Given the description of an element on the screen output the (x, y) to click on. 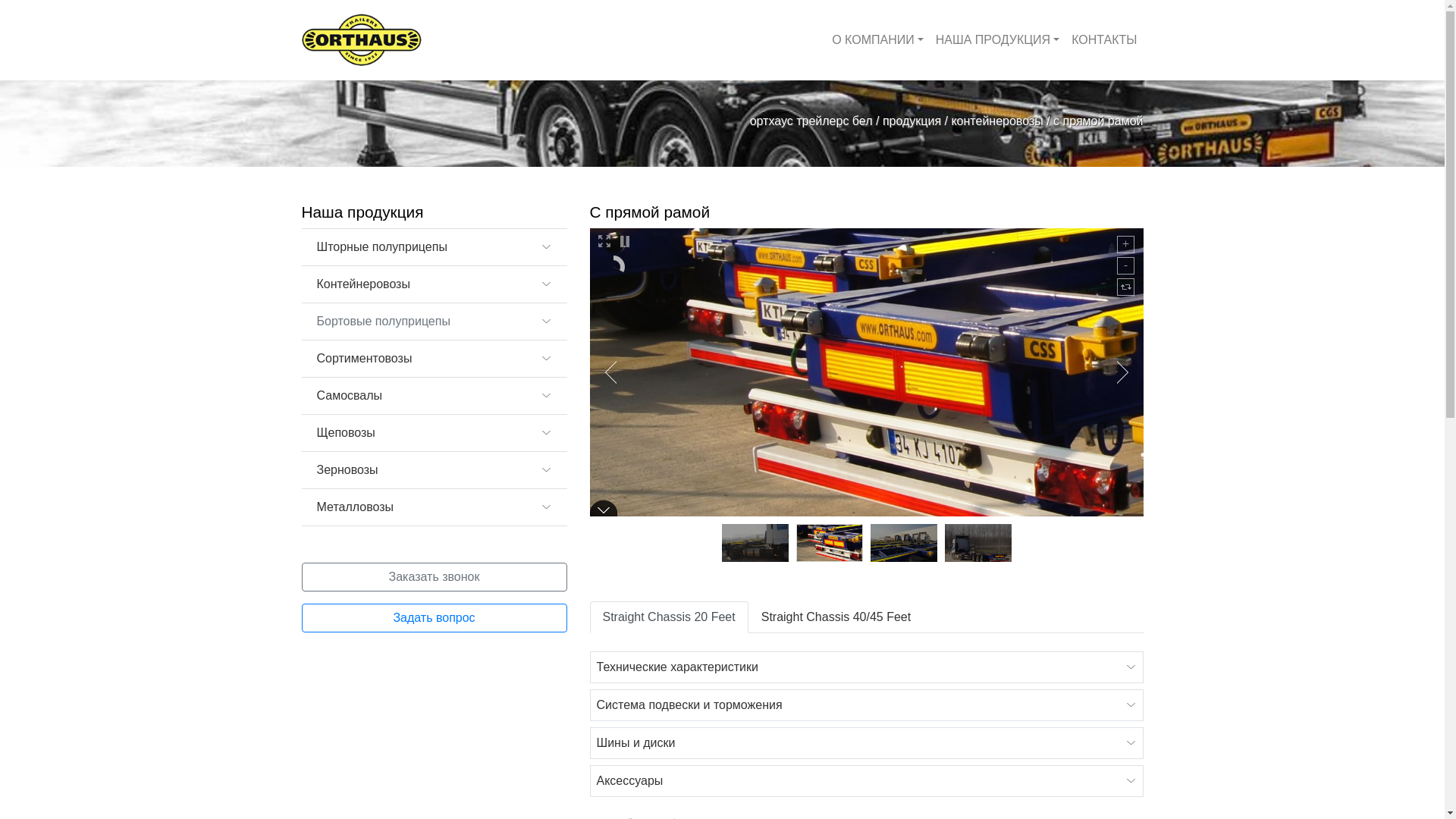
Straight Chassis 20 Feet Element type: text (668, 617)
Straight Chassis 40/45 Feet Element type: text (835, 617)
